Given the description of an element on the screen output the (x, y) to click on. 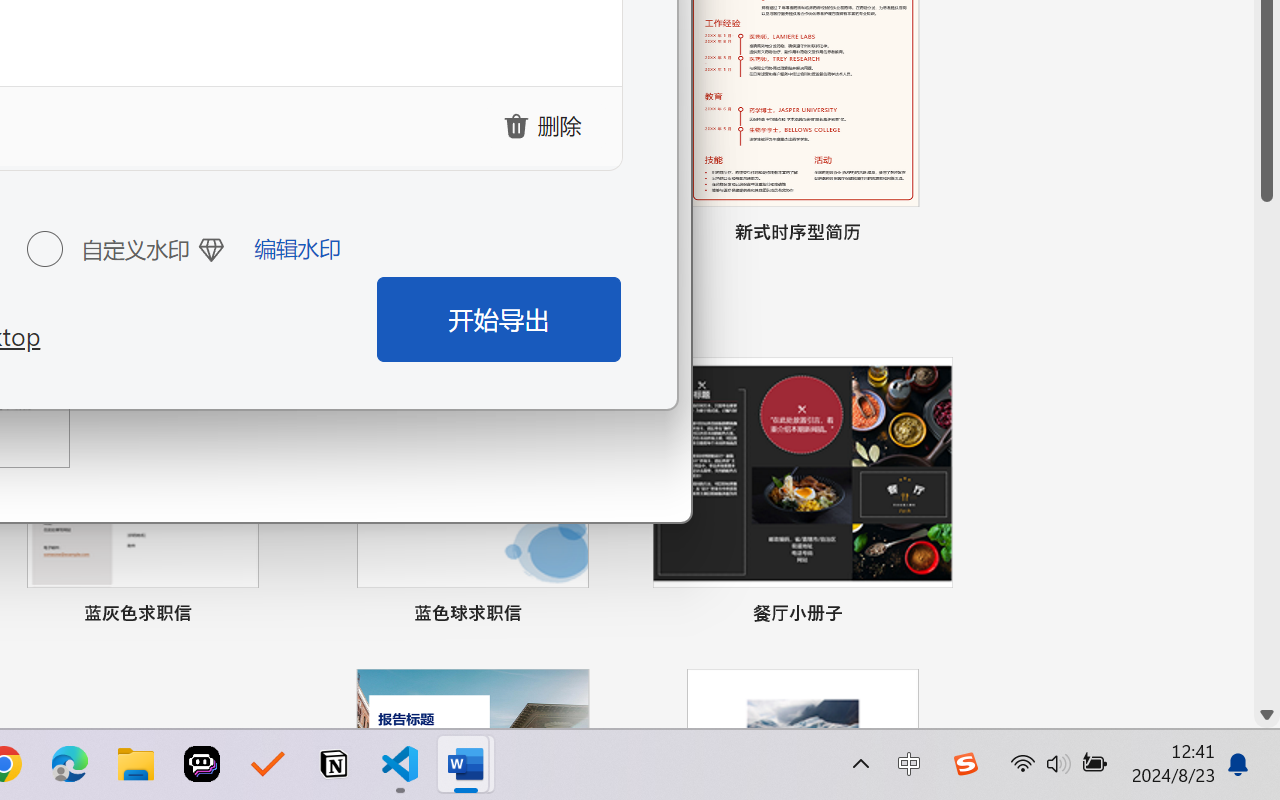
clearAllFile (545, 125)
Page down (1267, 451)
